Given the description of an element on the screen output the (x, y) to click on. 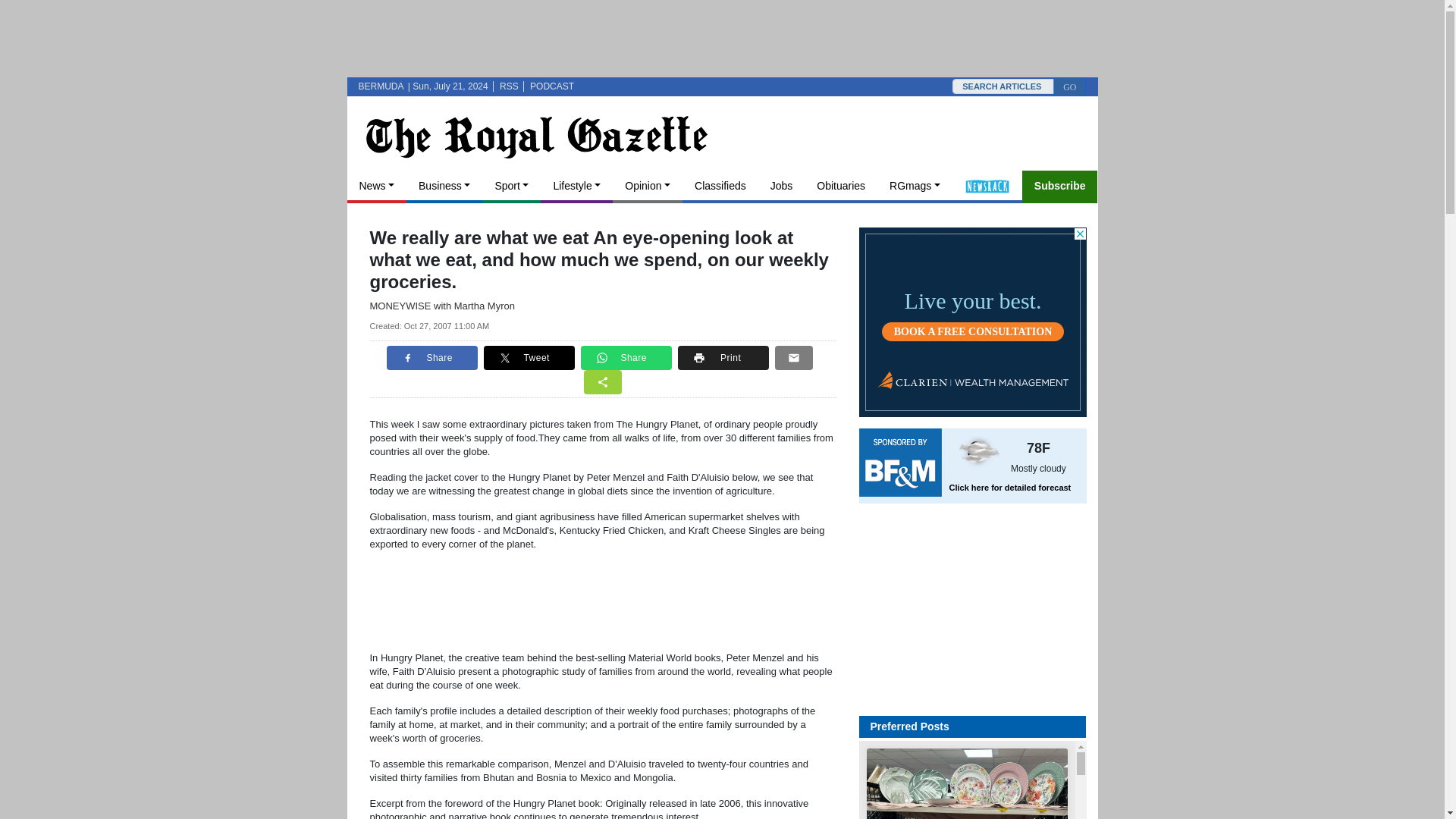
3rd party ad content (722, 38)
GO (1069, 86)
GO (29, 74)
PODCAST (551, 86)
RSS (508, 86)
GO (1069, 86)
